Given the description of an element on the screen output the (x, y) to click on. 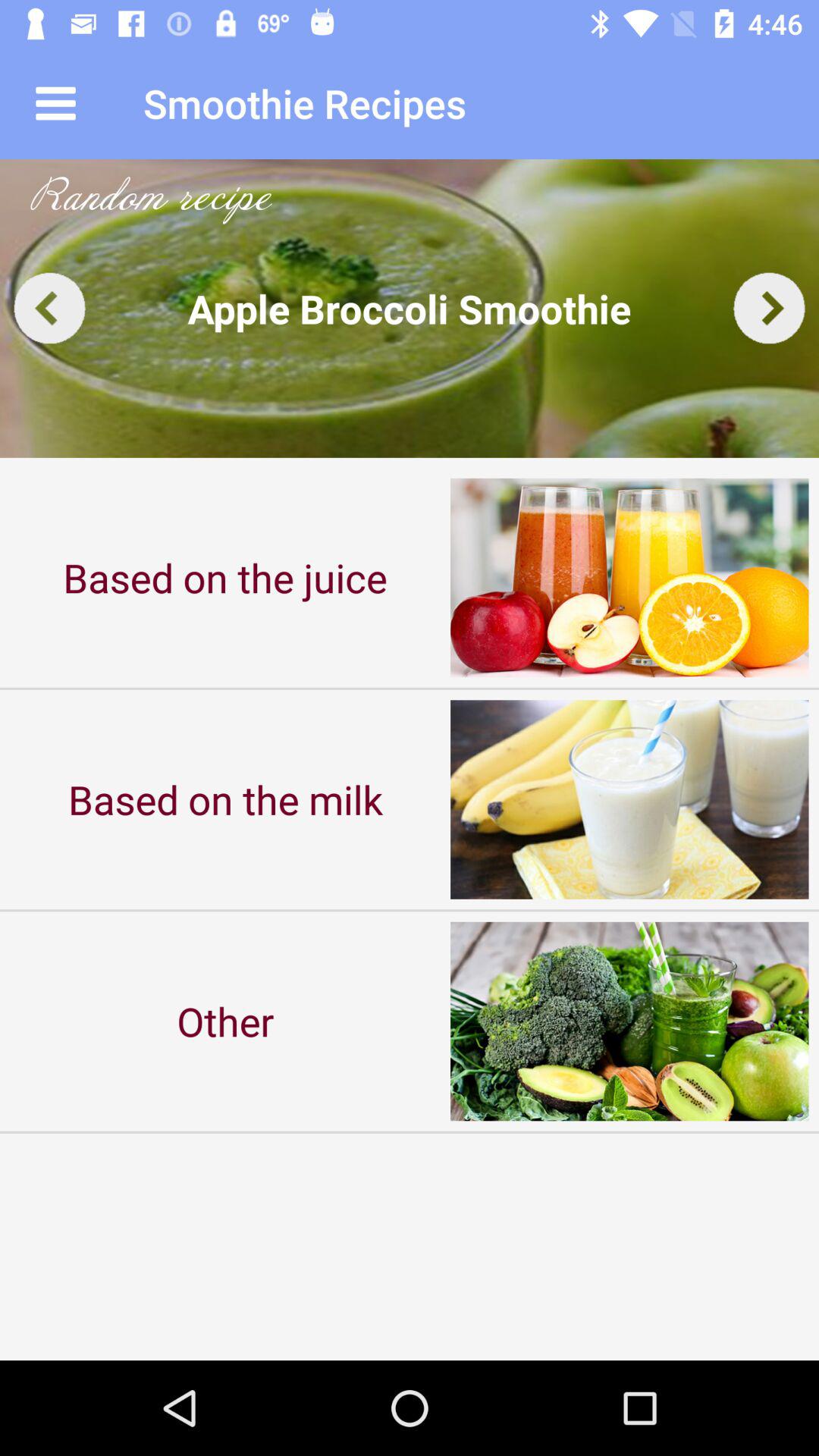
go back to last recipe (49, 308)
